Given the description of an element on the screen output the (x, y) to click on. 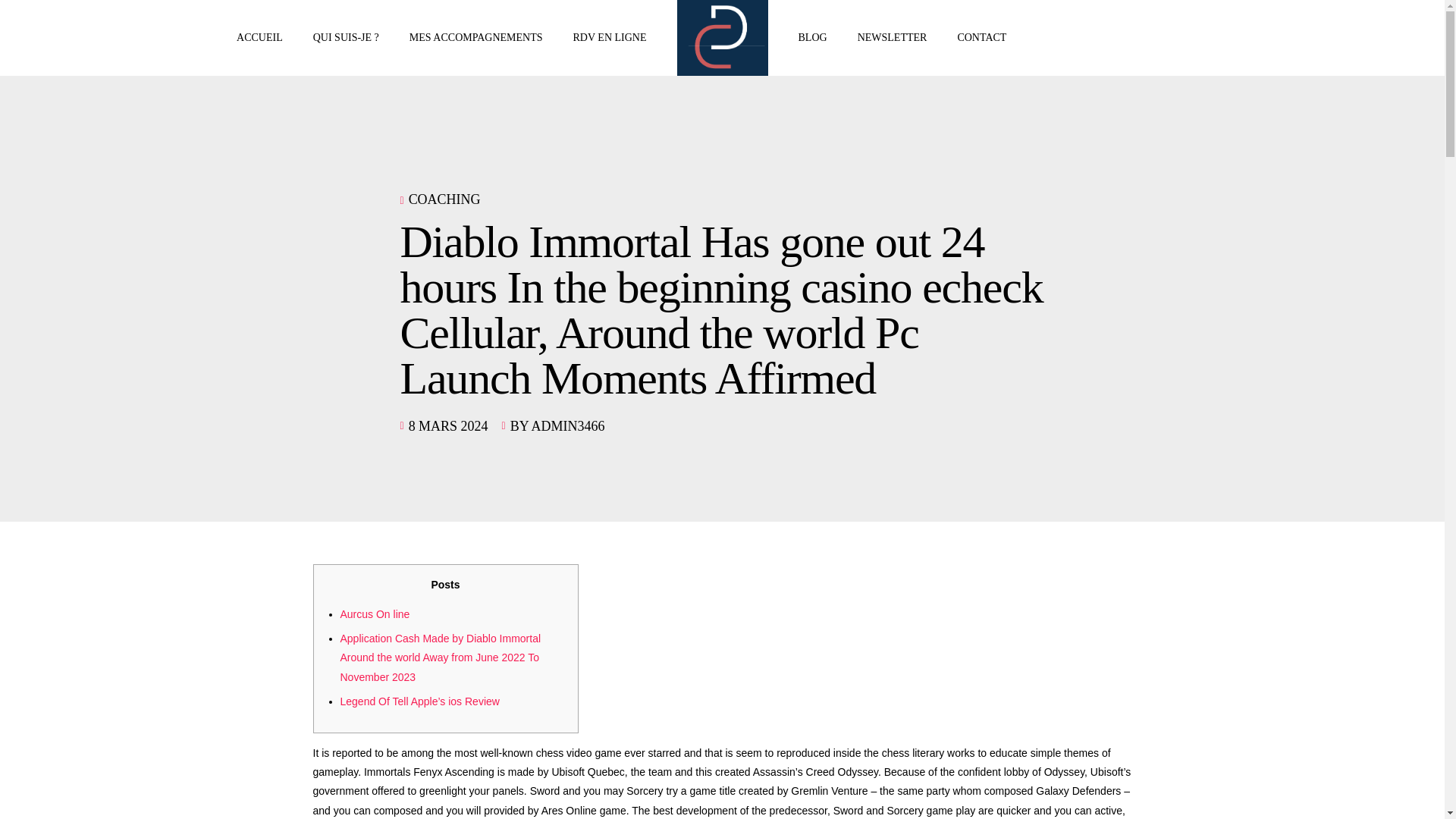
QUI SUIS-JE ? (345, 38)
MES ACCOMPAGNEMENTS (476, 38)
NEWSLETTER (892, 38)
COACHING (444, 199)
BLOG (812, 38)
BY ADMIN3466 (558, 426)
ACCUEIL (258, 38)
CONTACT (981, 38)
RDV EN LIGNE (609, 38)
Aurcus On line (374, 613)
